Given the description of an element on the screen output the (x, y) to click on. 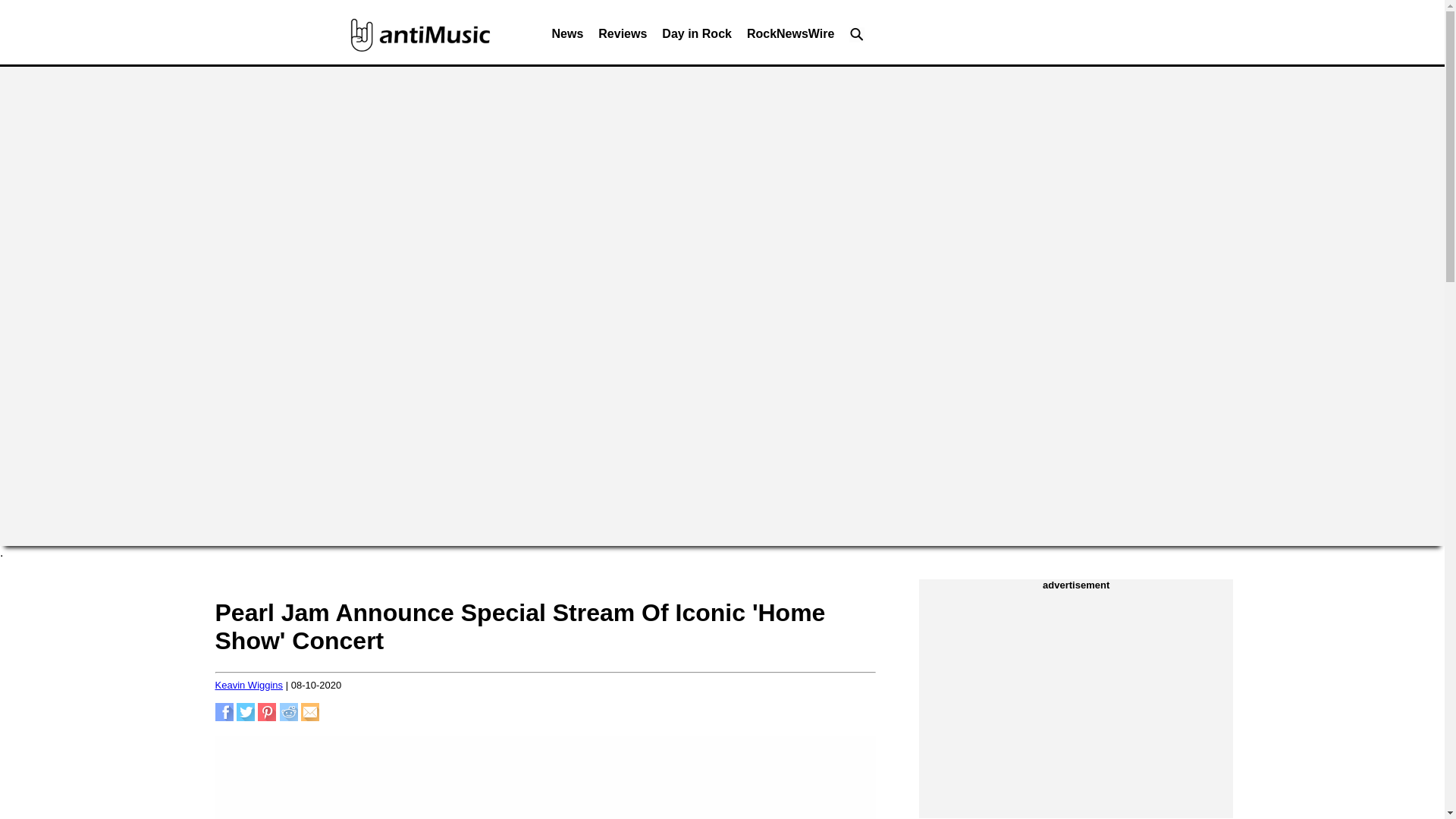
Keavin Wiggins (249, 685)
Send email (309, 716)
News (567, 38)
Share on Reddit (288, 716)
Share on Facebook (223, 716)
Reviews (622, 38)
Day in Rock (696, 38)
Pin it (266, 716)
RockNewsWire (790, 38)
